Given the description of an element on the screen output the (x, y) to click on. 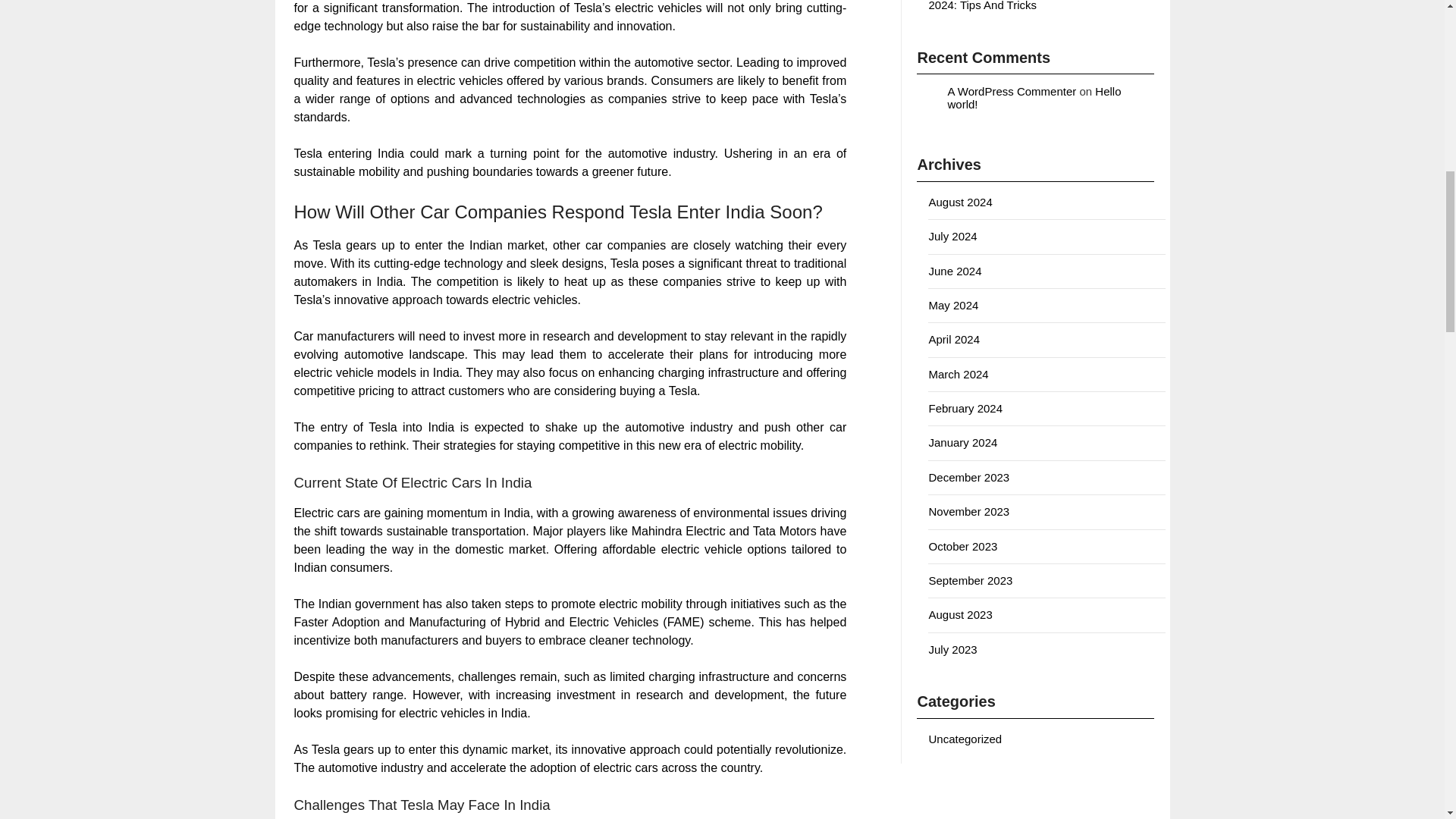
Hello world! (1034, 97)
August 2023 (959, 614)
A WordPress Commenter (1011, 91)
November 2023 (968, 511)
October 2023 (962, 545)
June 2024 (954, 269)
February 2024 (965, 408)
July 2024 (952, 236)
May 2024 (953, 305)
March 2024 (958, 373)
